Given the description of an element on the screen output the (x, y) to click on. 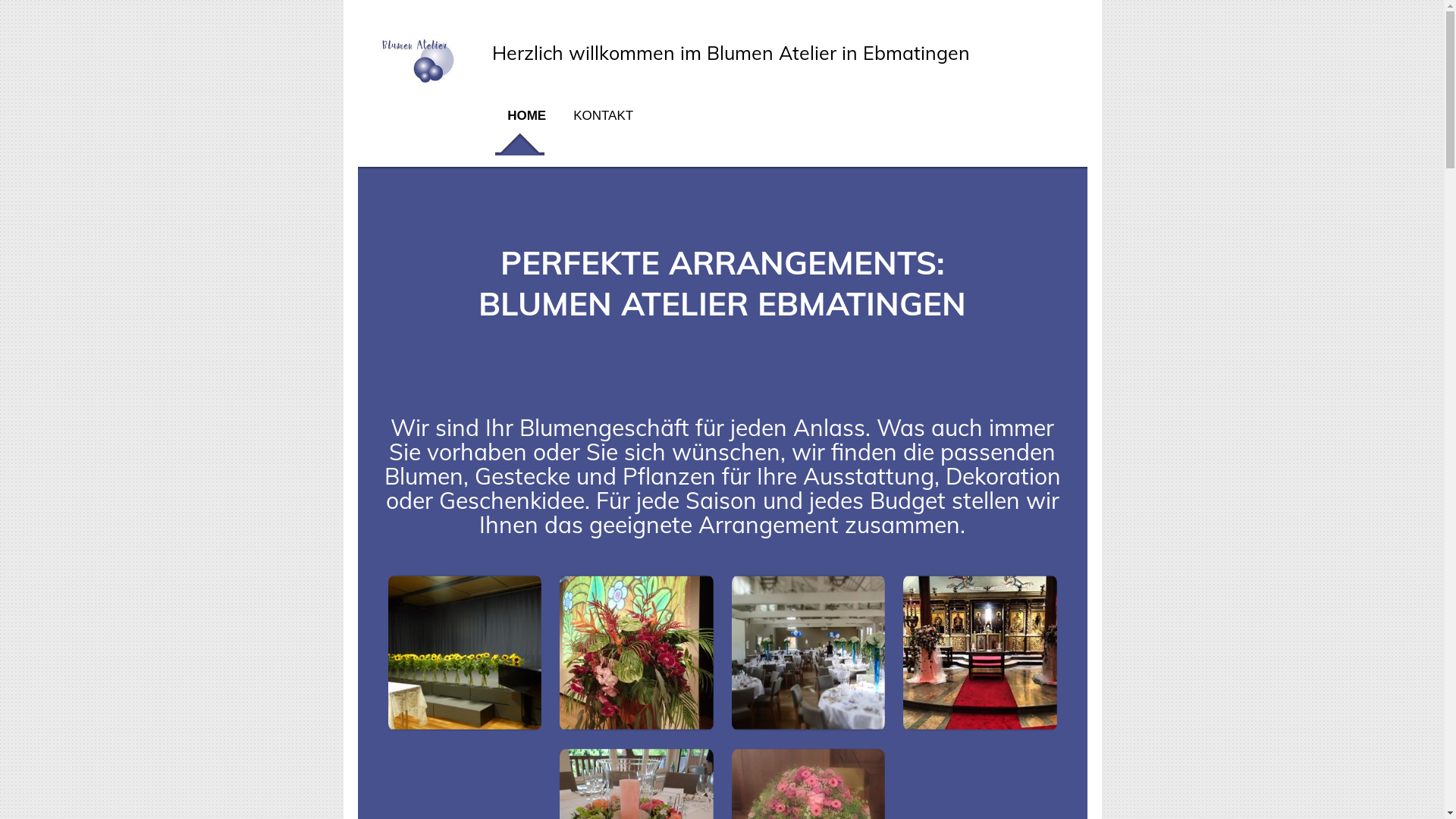
KONTAKT Element type: text (595, 121)
HOME Element type: text (525, 121)
Logo - Blumen Atelier Element type: hover (417, 82)
